Given the description of an element on the screen output the (x, y) to click on. 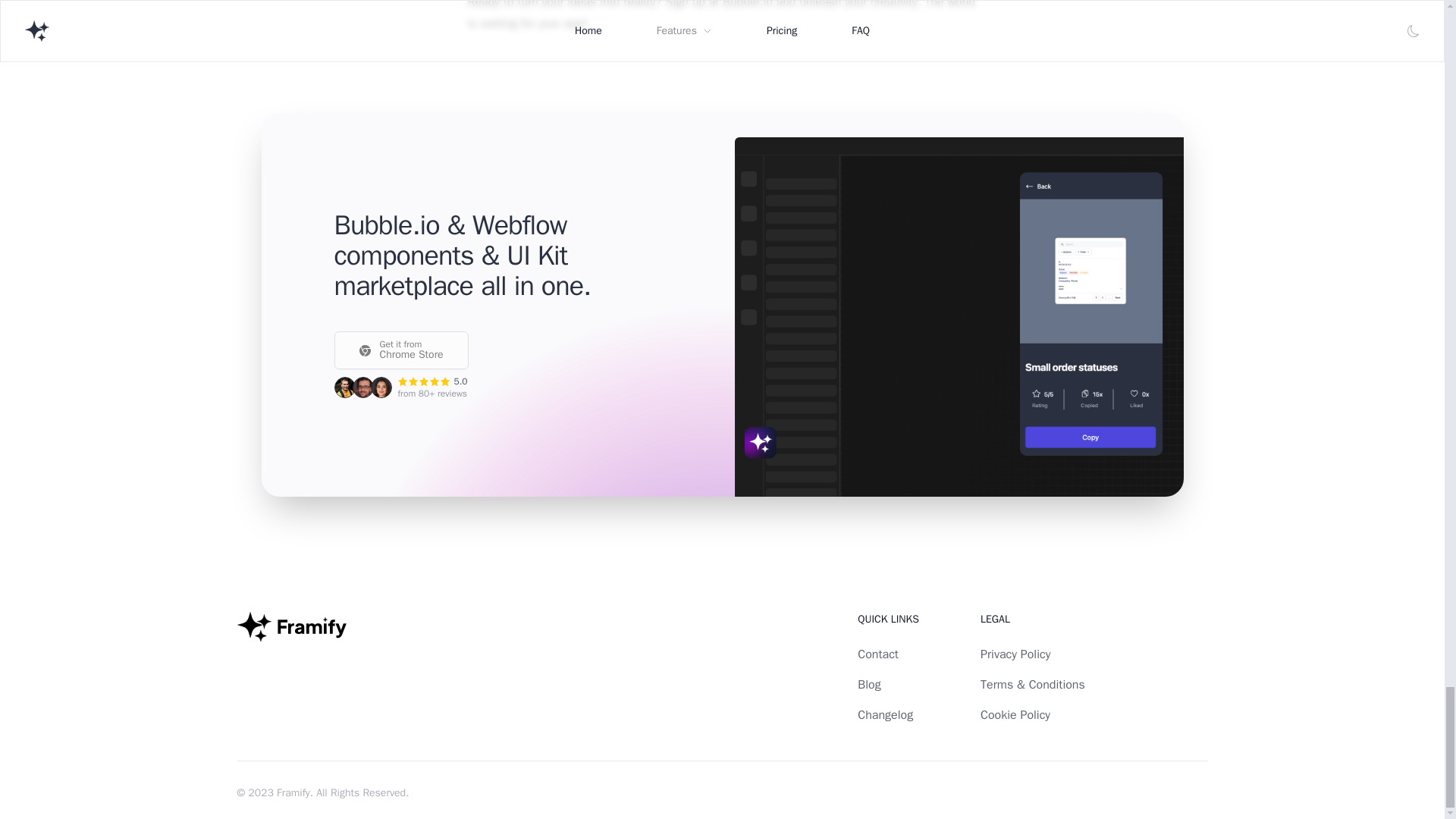
Cookie Policy (1014, 714)
Framify (400, 350)
Blog (293, 792)
Privacy Policy (868, 684)
Changelog (1014, 654)
Contact (884, 714)
